Given the description of an element on the screen output the (x, y) to click on. 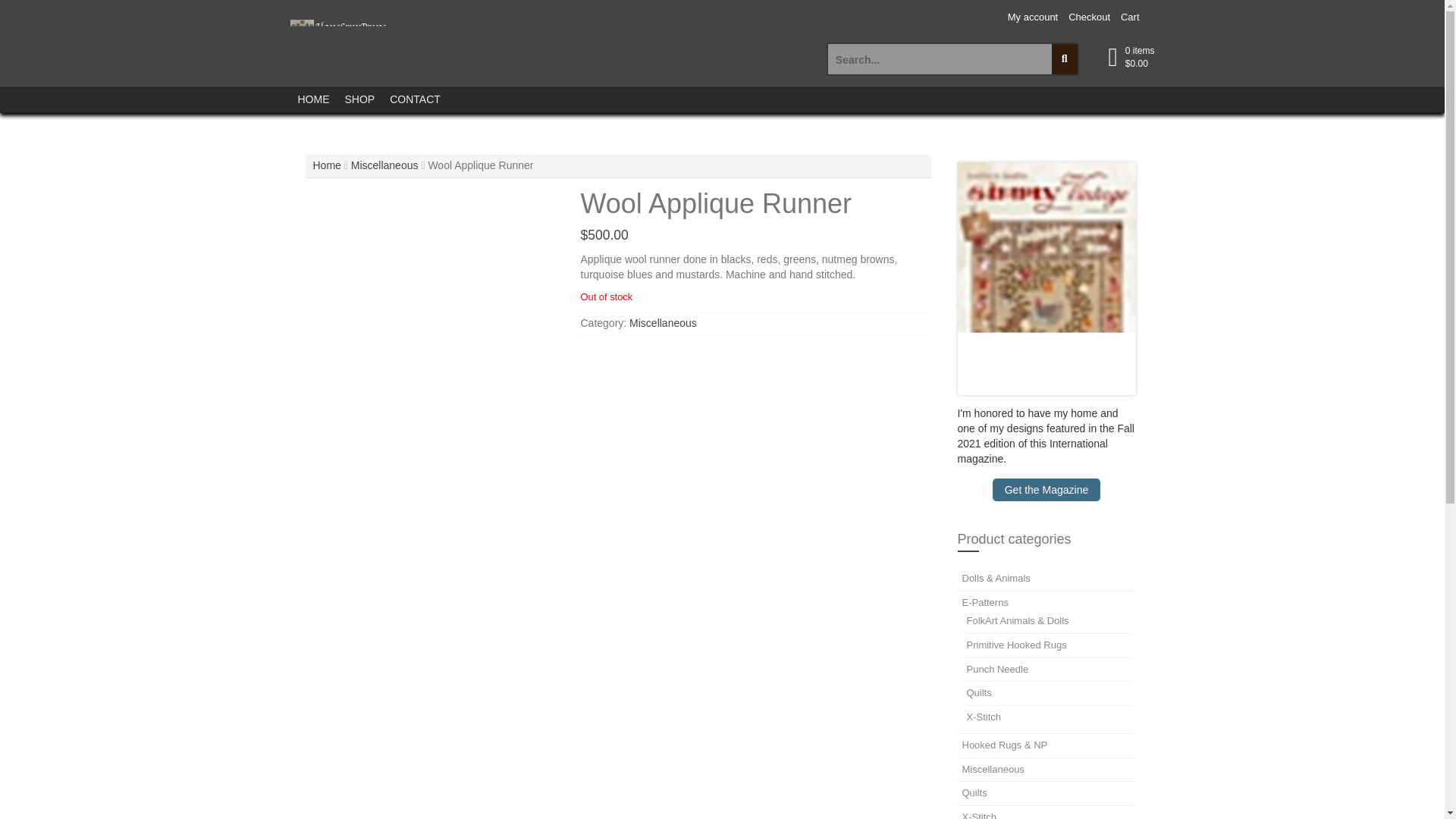
HOME (312, 99)
Primitive Hooked Rugs (1015, 644)
Quilts (978, 692)
Home (326, 164)
E-Patterns (983, 602)
Checkout (1088, 17)
SHOP (358, 99)
Punch Needle (996, 668)
My account (1032, 17)
CONTACT (414, 99)
View your shopping cart (1139, 57)
X-Stitch (977, 815)
Get the Magazine (1046, 489)
Quilts (973, 792)
Search for: (940, 59)
